Given the description of an element on the screen output the (x, y) to click on. 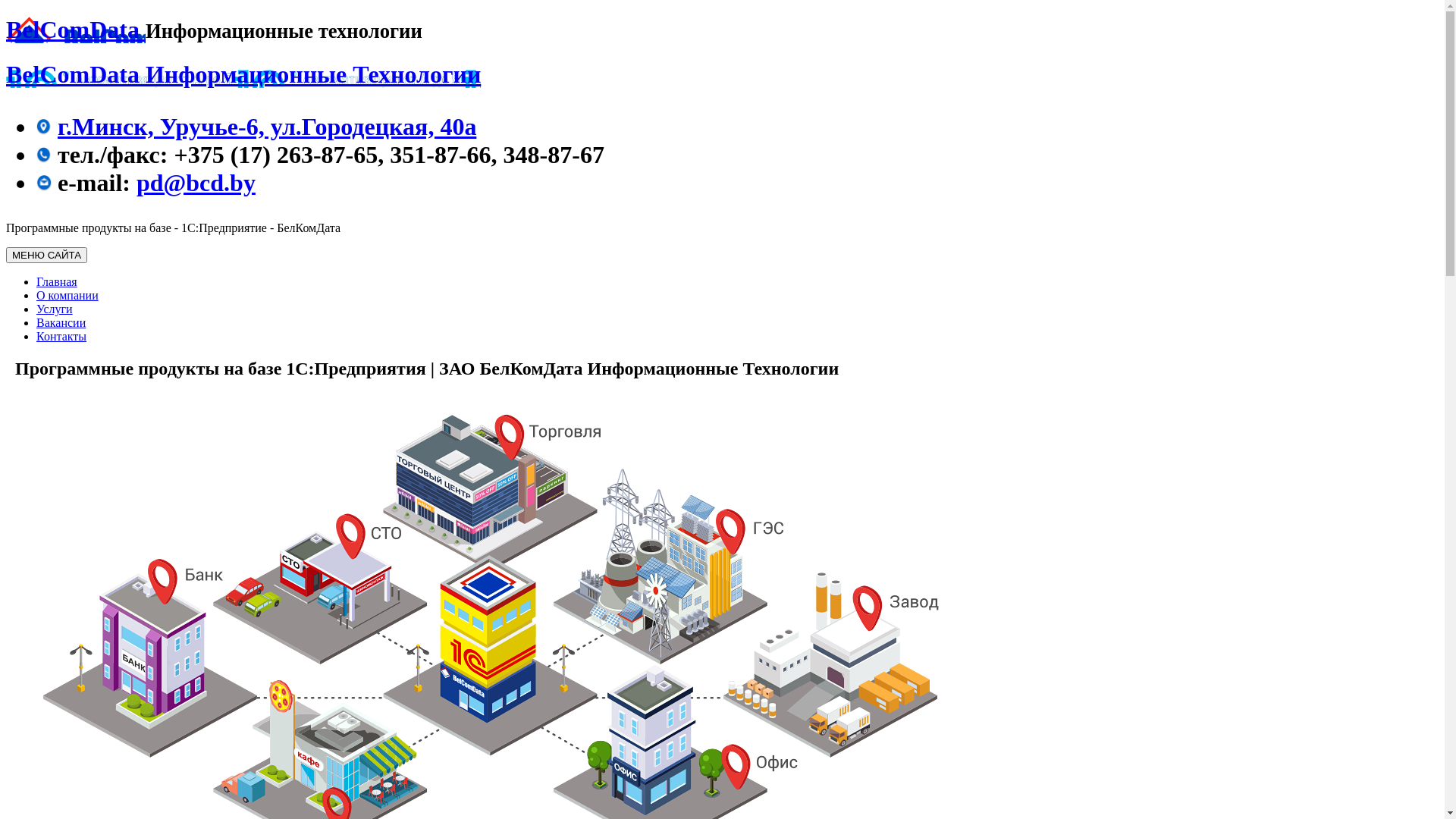
BelComData Element type: text (75, 29)
pd@bcd.by Element type: text (195, 182)
